Given the description of an element on the screen output the (x, y) to click on. 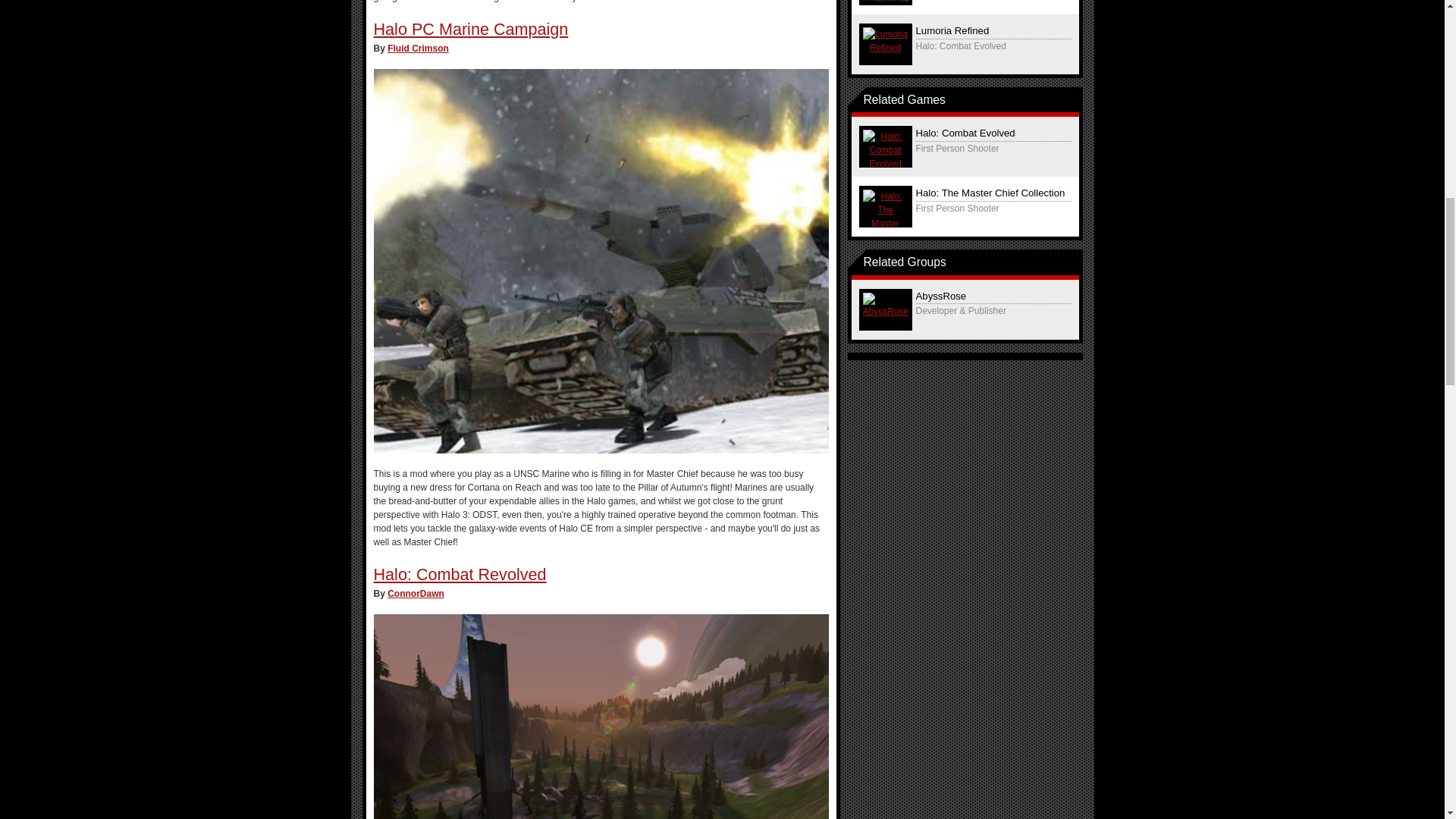
Image 5 - Mod DB (600, 260)
mention:groups:fluid-crimson:39854 (417, 48)
mention:mods:halo-pc-marine-campaign:55160 (469, 28)
